Given the description of an element on the screen output the (x, y) to click on. 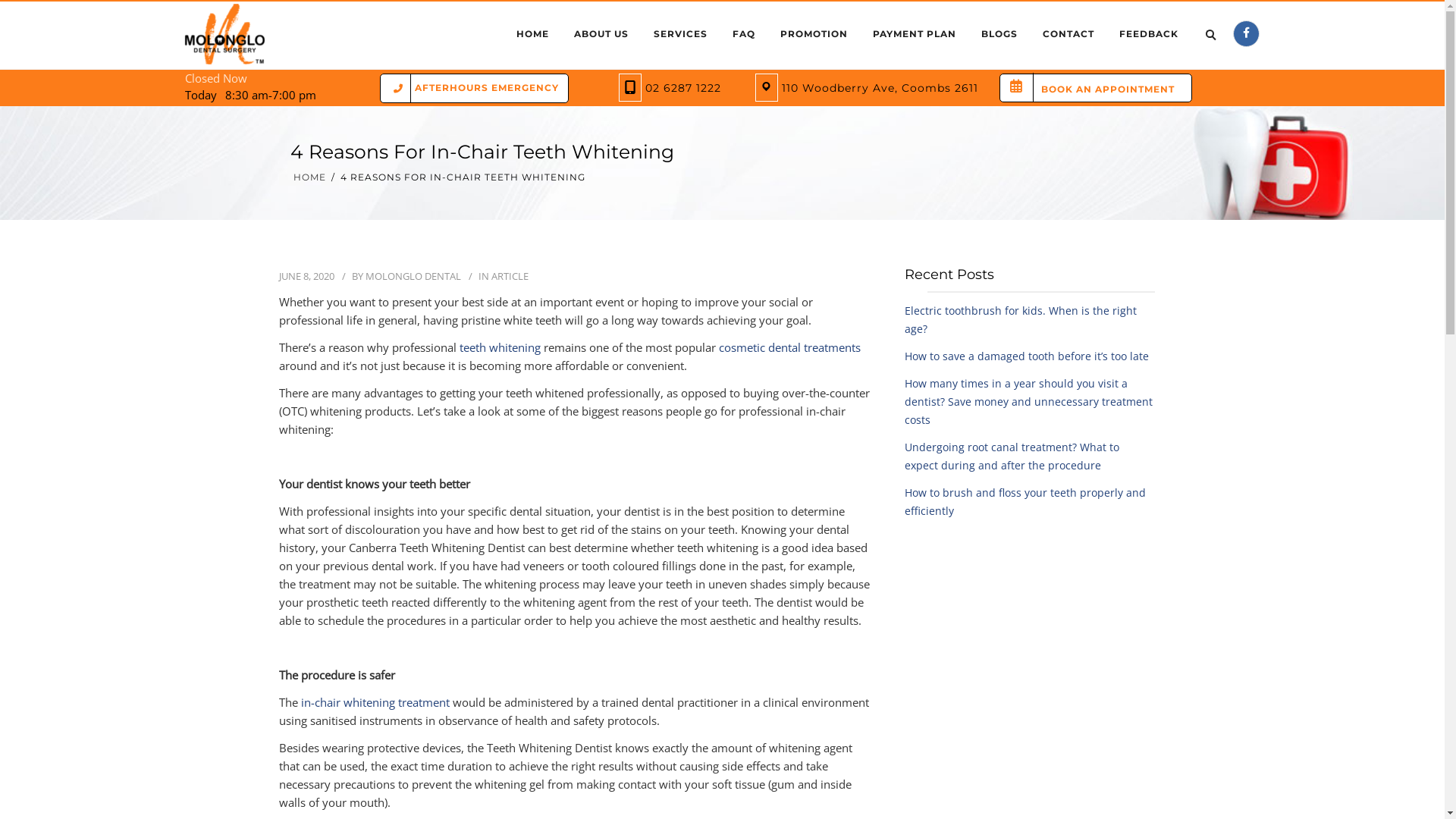
PAYMENT PLAN Element type: text (914, 33)
FAQ Element type: text (743, 33)
MOLONGLO DENTAL Element type: text (413, 275)
SERVICES Element type: text (680, 33)
FEEDBACK Element type: text (1148, 33)
ARTICLE Element type: text (509, 275)
How to brush and floss your teeth properly and efficiently Element type: text (1024, 501)
CONTACT Element type: text (1068, 33)
ABOUT US Element type: text (601, 33)
cosmetic dental treatments Element type: text (789, 346)
02 6287 1222 Element type: text (682, 87)
BOOK AN APPOINTMENT Element type: text (1102, 87)
teeth whitening Element type: text (499, 346)
HOME Element type: text (308, 177)
PROMOTION Element type: text (813, 33)
in-chair whitening treatment Element type: text (374, 701)
110 Woodberry Ave, Coombs 2611 Element type: text (875, 87)
Molonglo Dental Element type: hover (224, 35)
BLOGS Element type: text (999, 33)
HOME Element type: text (532, 33)
Electric toothbrush for kids. When is the right age? Element type: text (1019, 319)
